Given the description of an element on the screen output the (x, y) to click on. 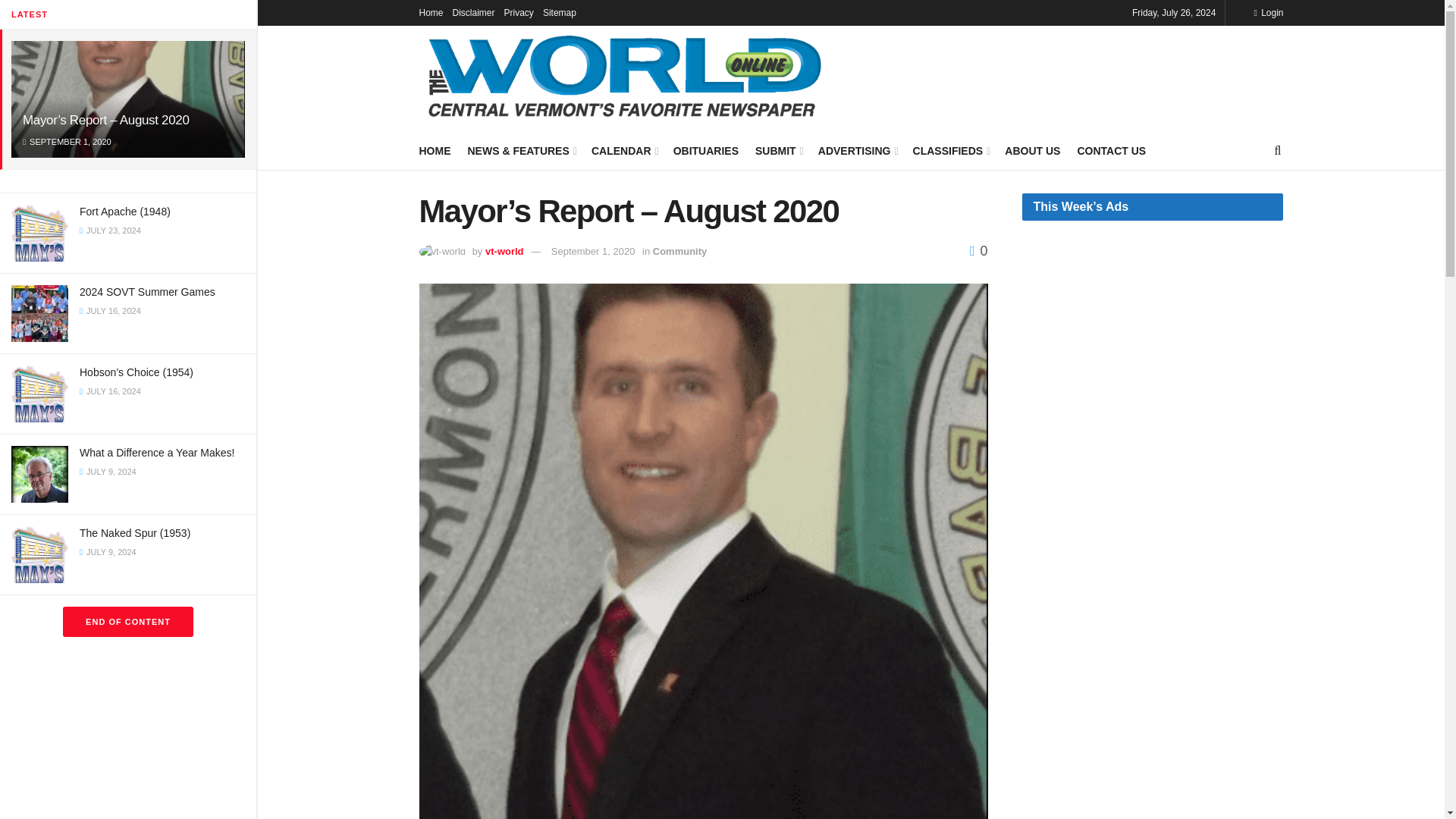
Disclaimer (473, 12)
Privacy (518, 12)
Sitemap (559, 12)
What a Difference a Year Makes! (157, 452)
END OF CONTENT (127, 621)
Home (430, 12)
Login (1267, 12)
HOME (434, 150)
2024 SOVT Summer Games (147, 291)
